Given the description of an element on the screen output the (x, y) to click on. 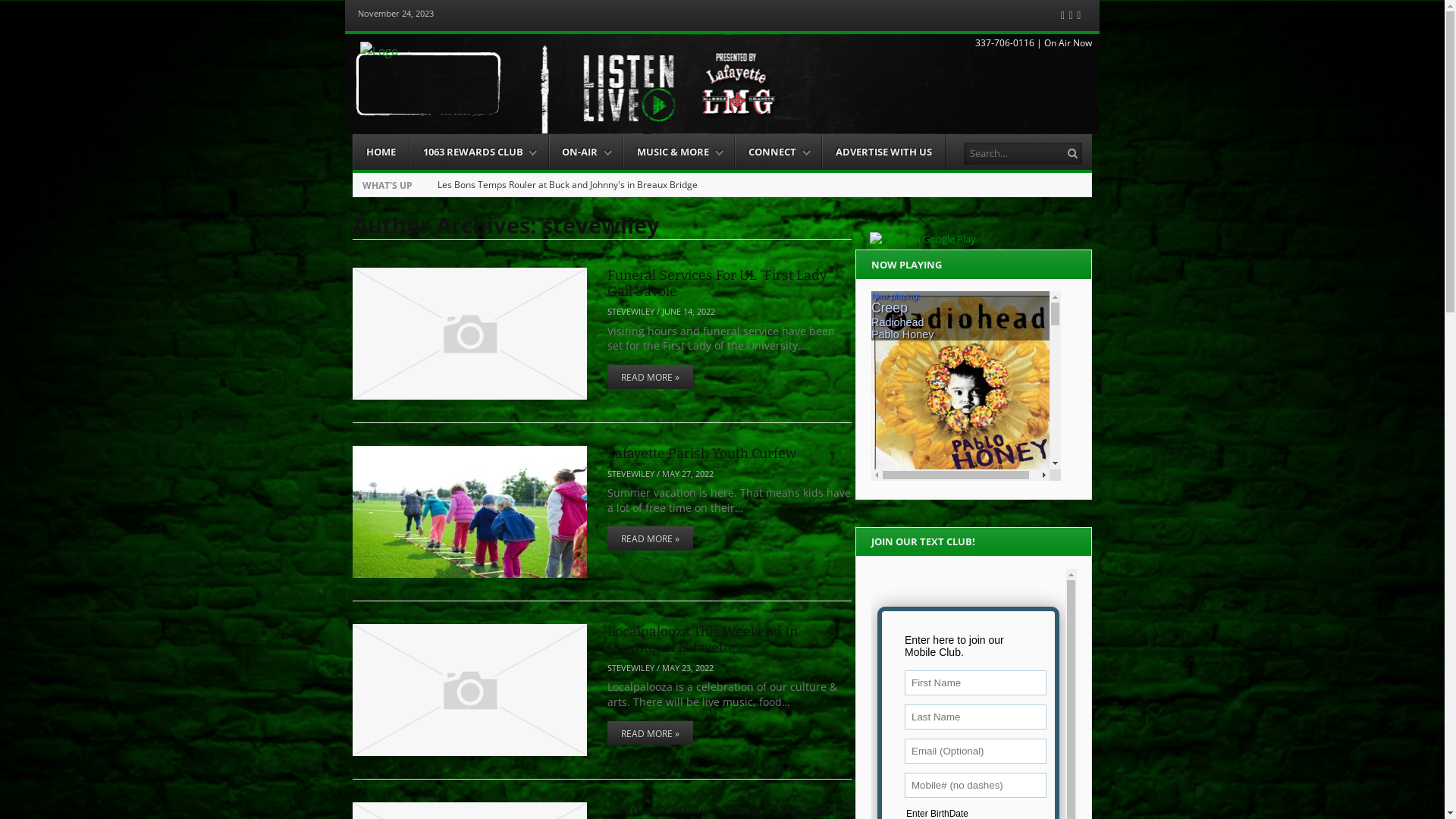
STEVEWILEY Element type: text (630, 667)
Les Bons Temps Rouler at Buck and Johnny's in Breaux Bridge Element type: text (567, 184)
1063 REWARDS CLUB Element type: text (479, 151)
STEVEWILEY Element type: text (630, 473)
HOME Element type: text (380, 151)
STEVEWILEY Element type: text (630, 310)
Localpalooza This Weekend In Downtown Lafayette Element type: text (702, 639)
MUSIC & MORE Element type: text (678, 151)
Go Element type: text (1074, 153)
ON-AIR Element type: text (586, 151)
Skip to content Element type: text (386, 141)
Facebook Element type: text (1062, 15)
Lafayette Parish Youth Curfew Element type: text (701, 453)
CONNECT Element type: text (778, 151)
ADVERTISE WITH US Element type: text (883, 151)
Instagram Element type: text (1071, 15)
YouTube Element type: text (1078, 15)
